Given the description of an element on the screen output the (x, y) to click on. 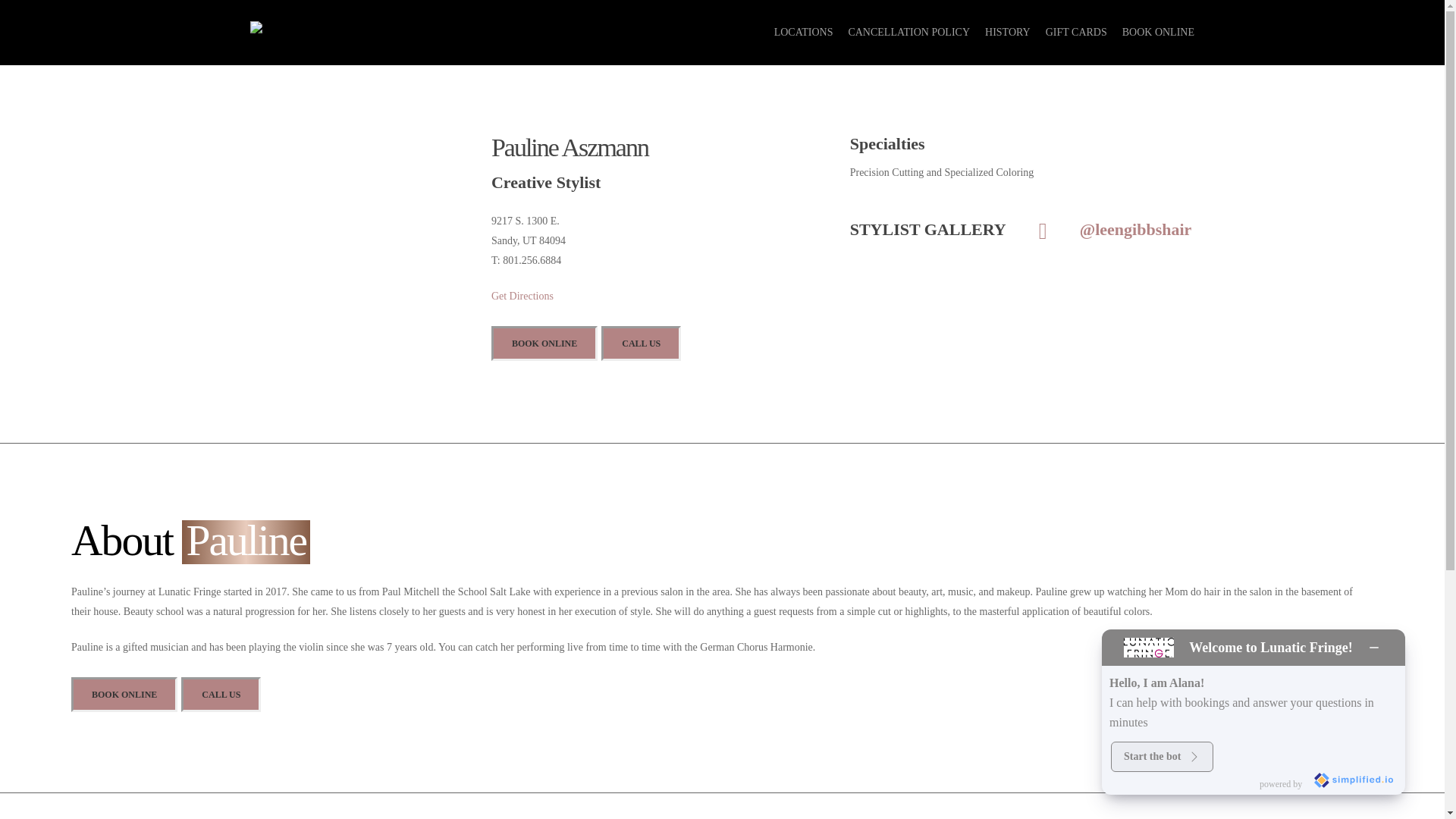
BOOK ONLINE (544, 343)
CANCELLATION POLICY (908, 32)
HISTORY (1007, 32)
GIFT CARDS (1075, 32)
BOOK ONLINE (124, 694)
Get Directions (522, 296)
Welcome to Lunatic Fringe! (1270, 647)
LOCATIONS (803, 32)
BOOK ONLINE (1157, 32)
CALL US (641, 343)
